Given the description of an element on the screen output the (x, y) to click on. 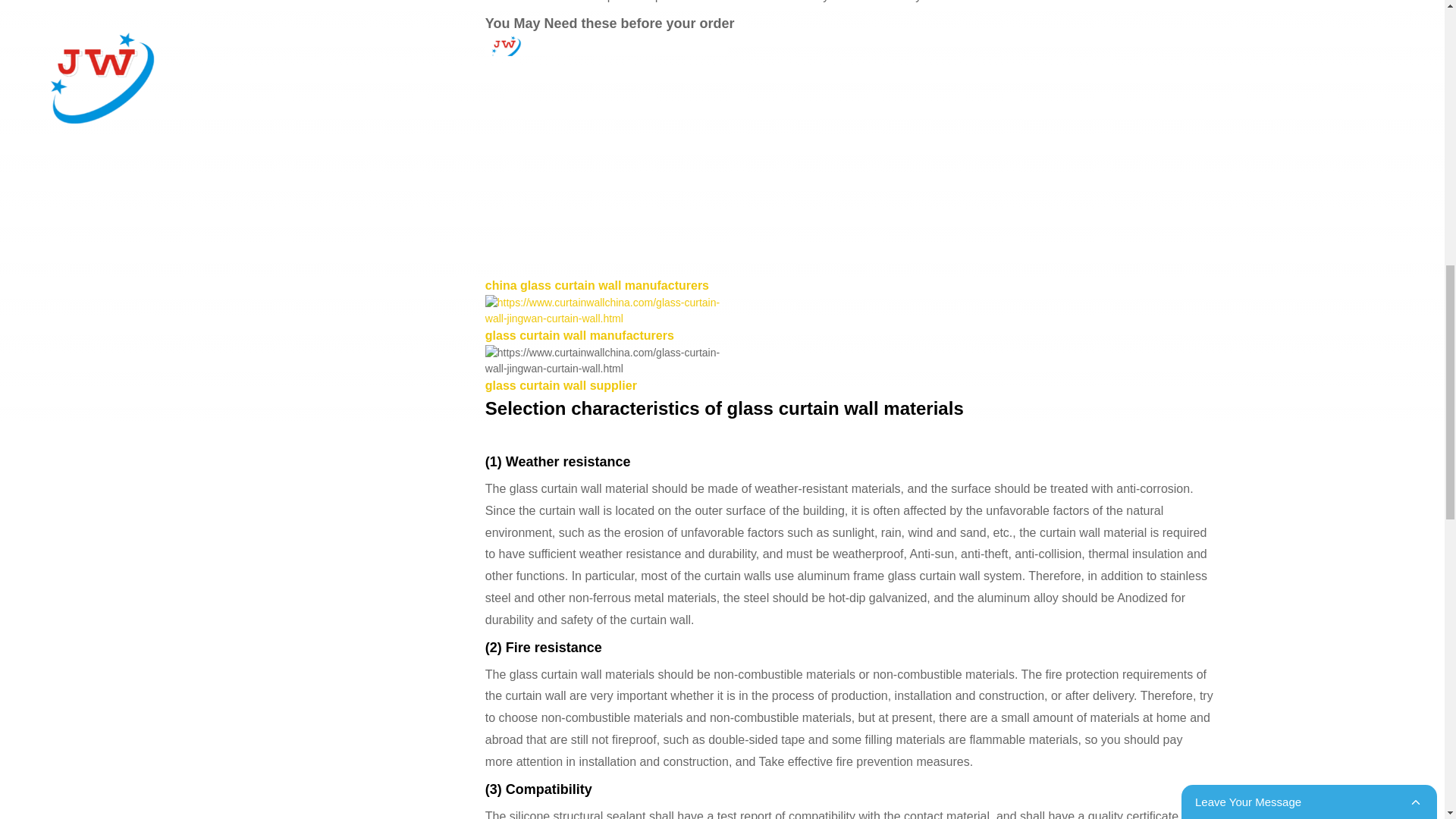
china glass curtain wall manufacturers (596, 285)
glass curtain wall manufacturers (579, 335)
glass curtain wall supplier (560, 385)
china glass curtain wall manufacturers (596, 285)
glass curtain wall supplier (560, 385)
glass curtain wall manufacturers (579, 335)
